Given the description of an element on the screen output the (x, y) to click on. 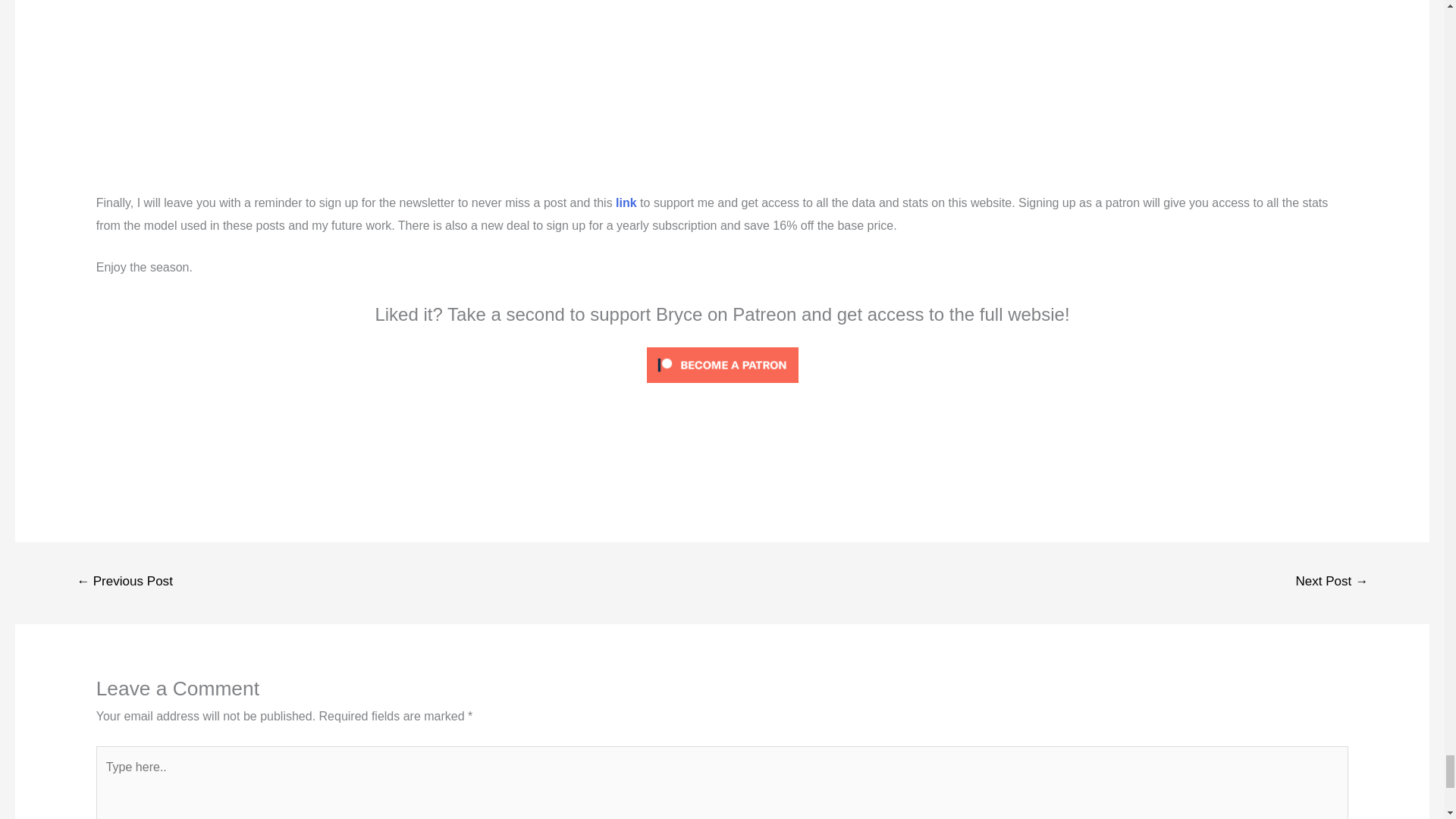
link (626, 202)
